Given the description of an element on the screen output the (x, y) to click on. 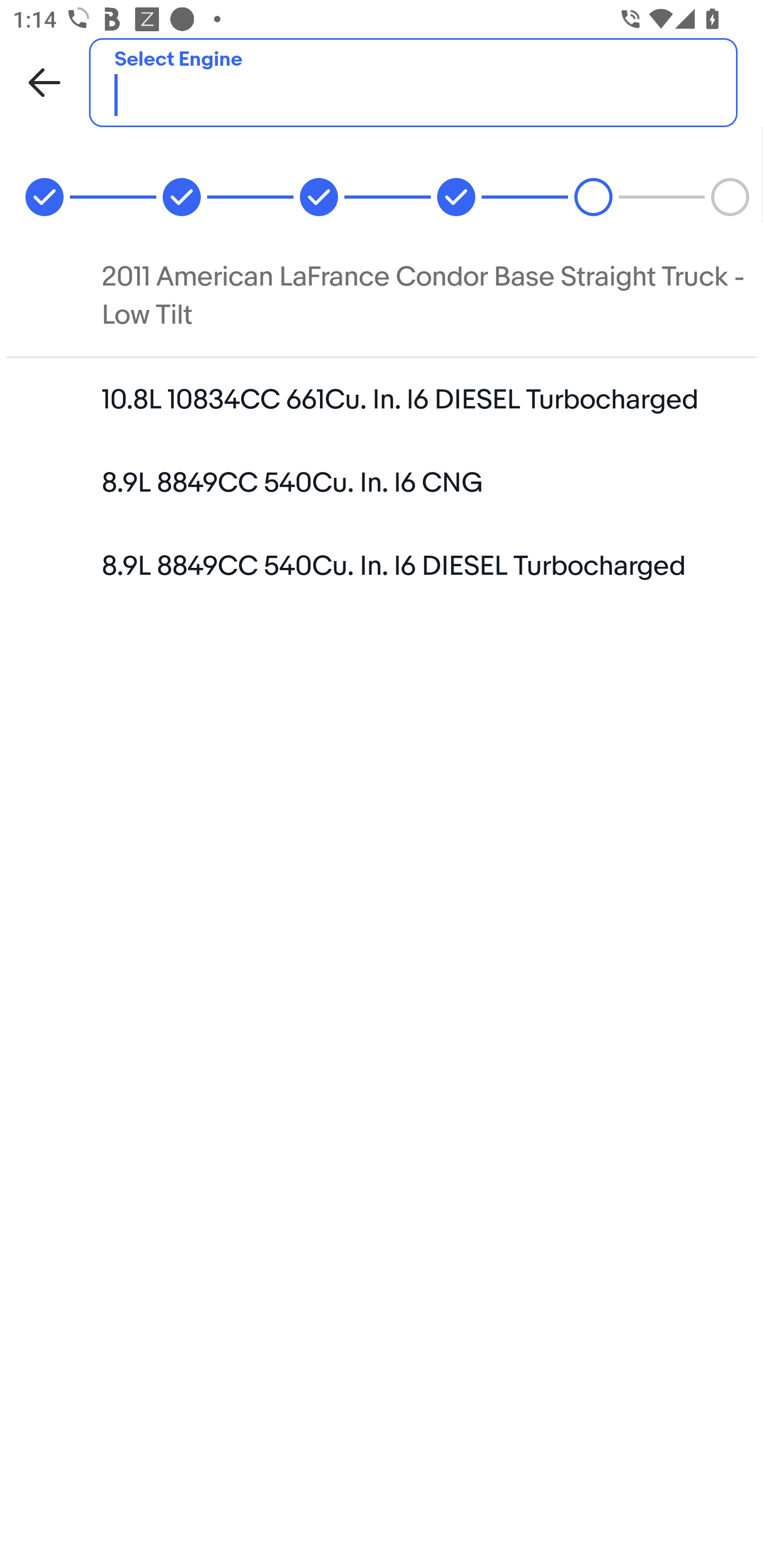
Back (44, 82)
Select Engine (413, 82)
10.8L 10834CC 661Cu. In. l6 DIESEL Turbocharged (381, 398)
8.9L 8849CC 540Cu. In. l6 CNG (381, 481)
8.9L 8849CC 540Cu. In. l6 DIESEL Turbocharged (381, 565)
